Given the description of an element on the screen output the (x, y) to click on. 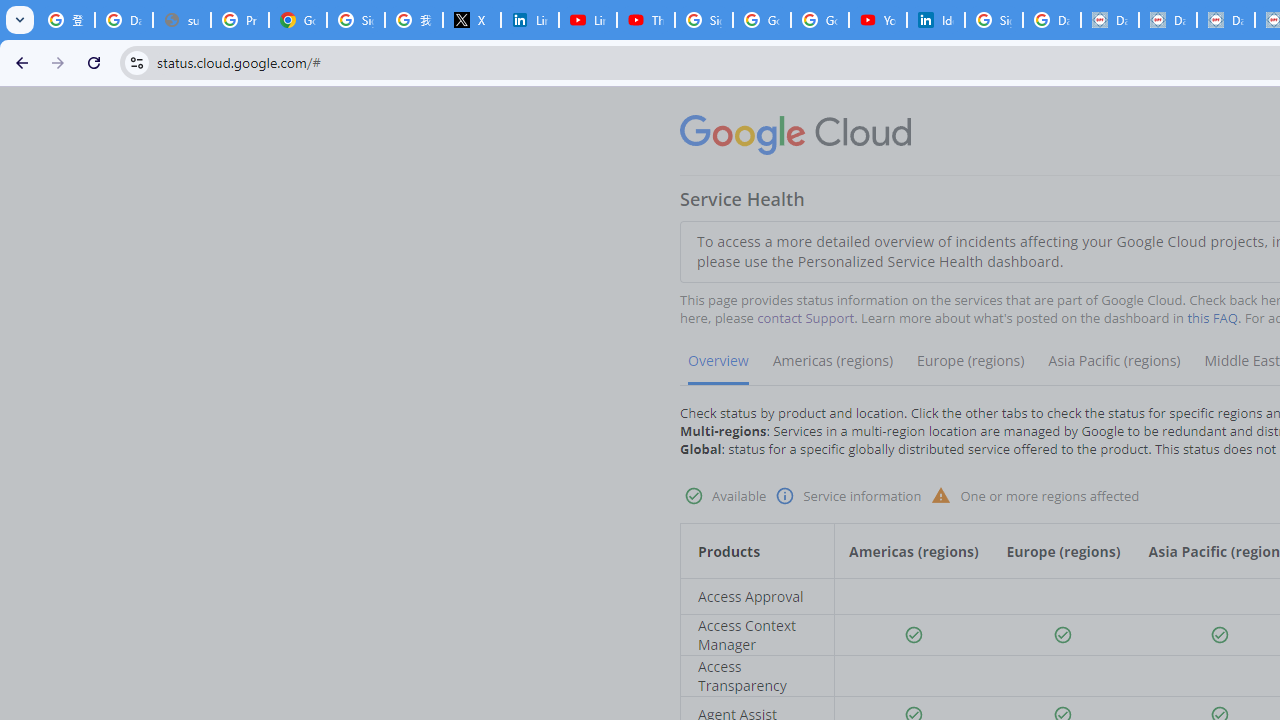
Data Privacy Framework (1225, 20)
Privacy Help Center - Policies Help (239, 20)
this FAQ (1211, 318)
LinkedIn - YouTube (587, 20)
support.google.com - Network error (181, 20)
X (471, 20)
Data Privacy Framework (1110, 20)
Sign in - Google Accounts (355, 20)
